Given the description of an element on the screen output the (x, y) to click on. 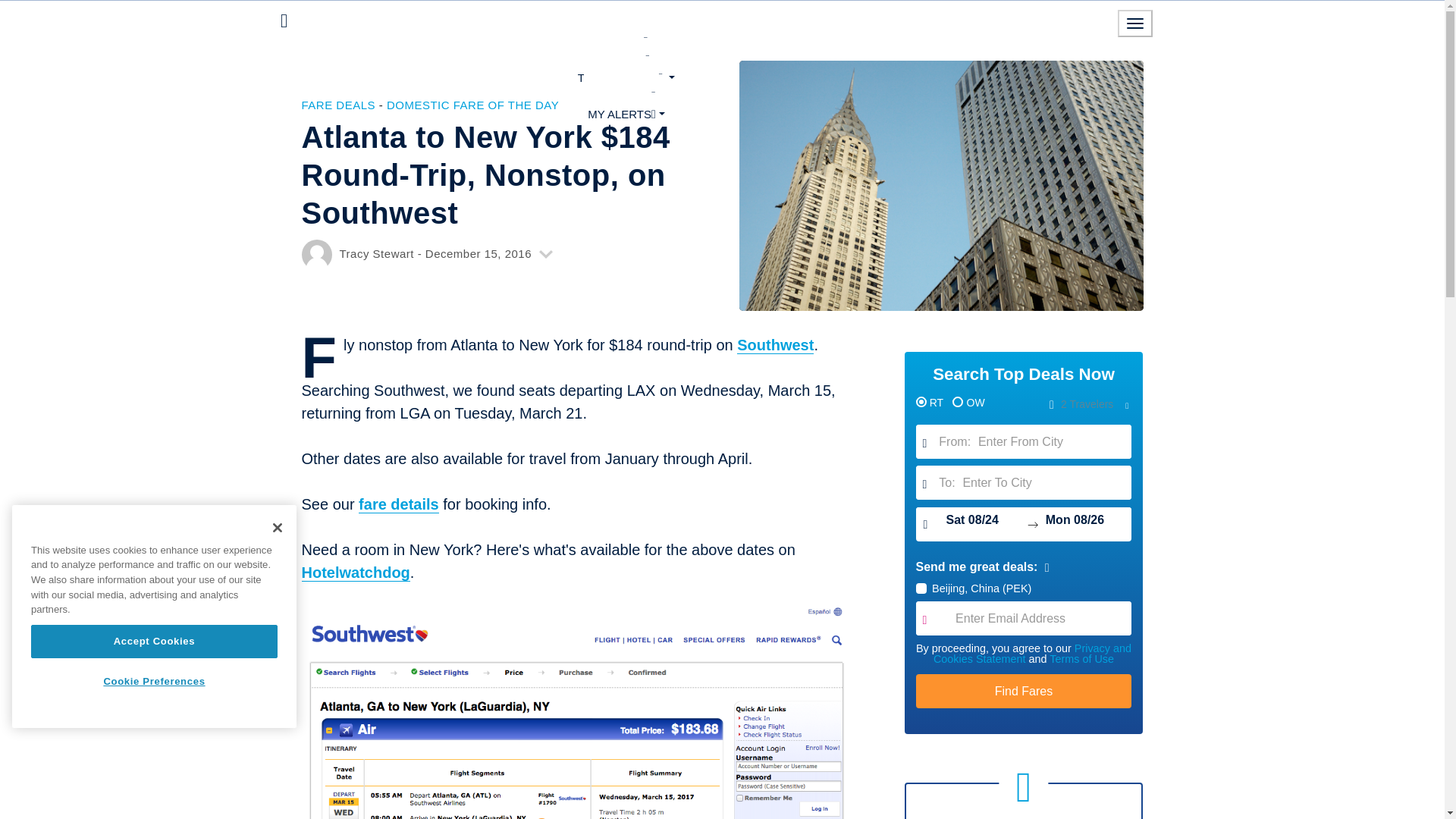
FLIGHTS (625, 40)
Toggle navigation (1135, 22)
AIRLINES (625, 58)
TRAVEL BLOG (626, 77)
